Given the description of an element on the screen output the (x, y) to click on. 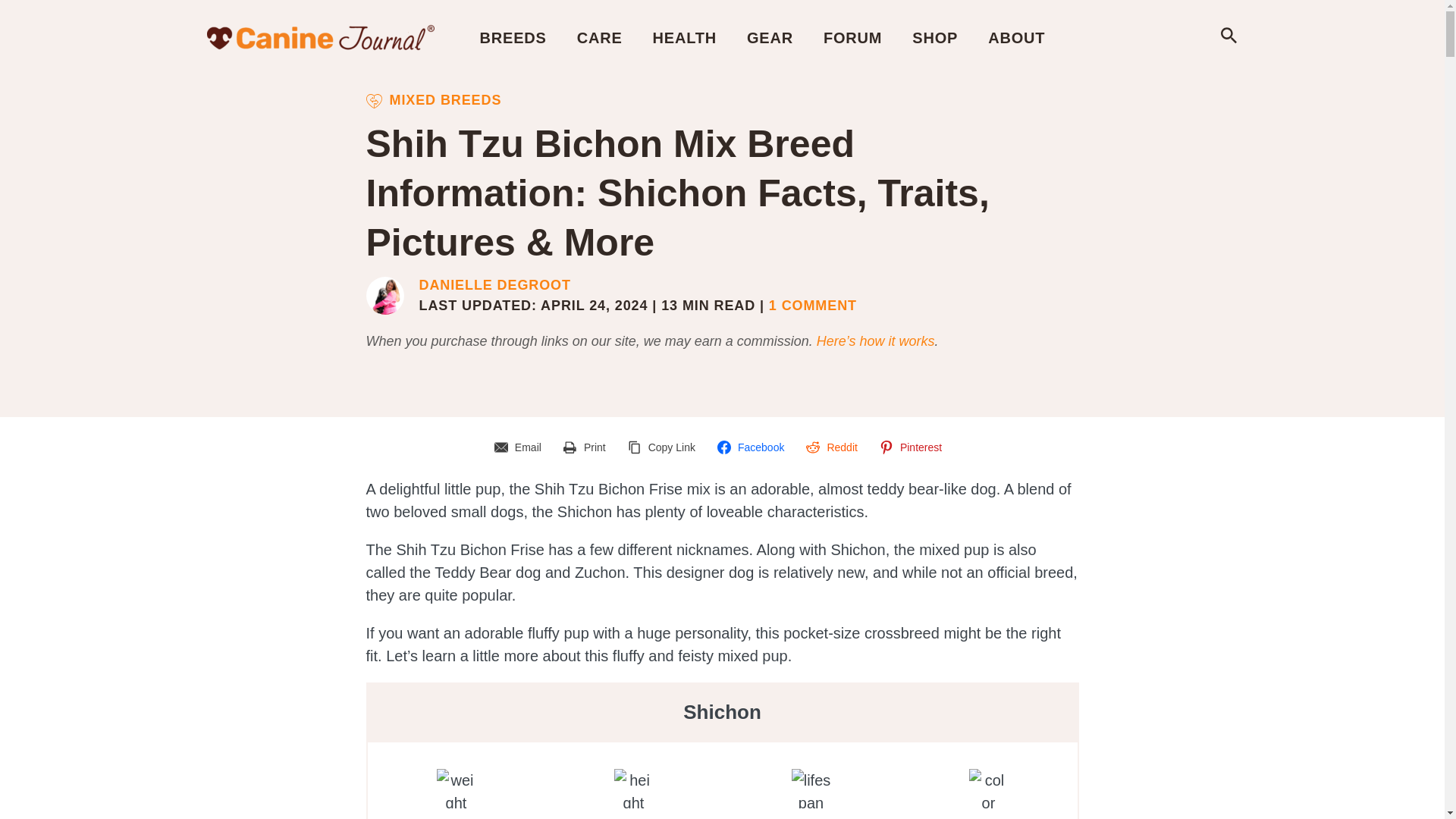
Share on Email (520, 447)
Share on Copy Link (663, 447)
HEALTH (684, 37)
Share on Pinterest (912, 447)
BREEDS (512, 37)
Posts by Danielle DeGroot (494, 285)
FORUM (853, 37)
ABOUT (1016, 37)
Share on Reddit (833, 447)
Share on Print (586, 447)
Share on Facebook (752, 447)
